Given the description of an element on the screen output the (x, y) to click on. 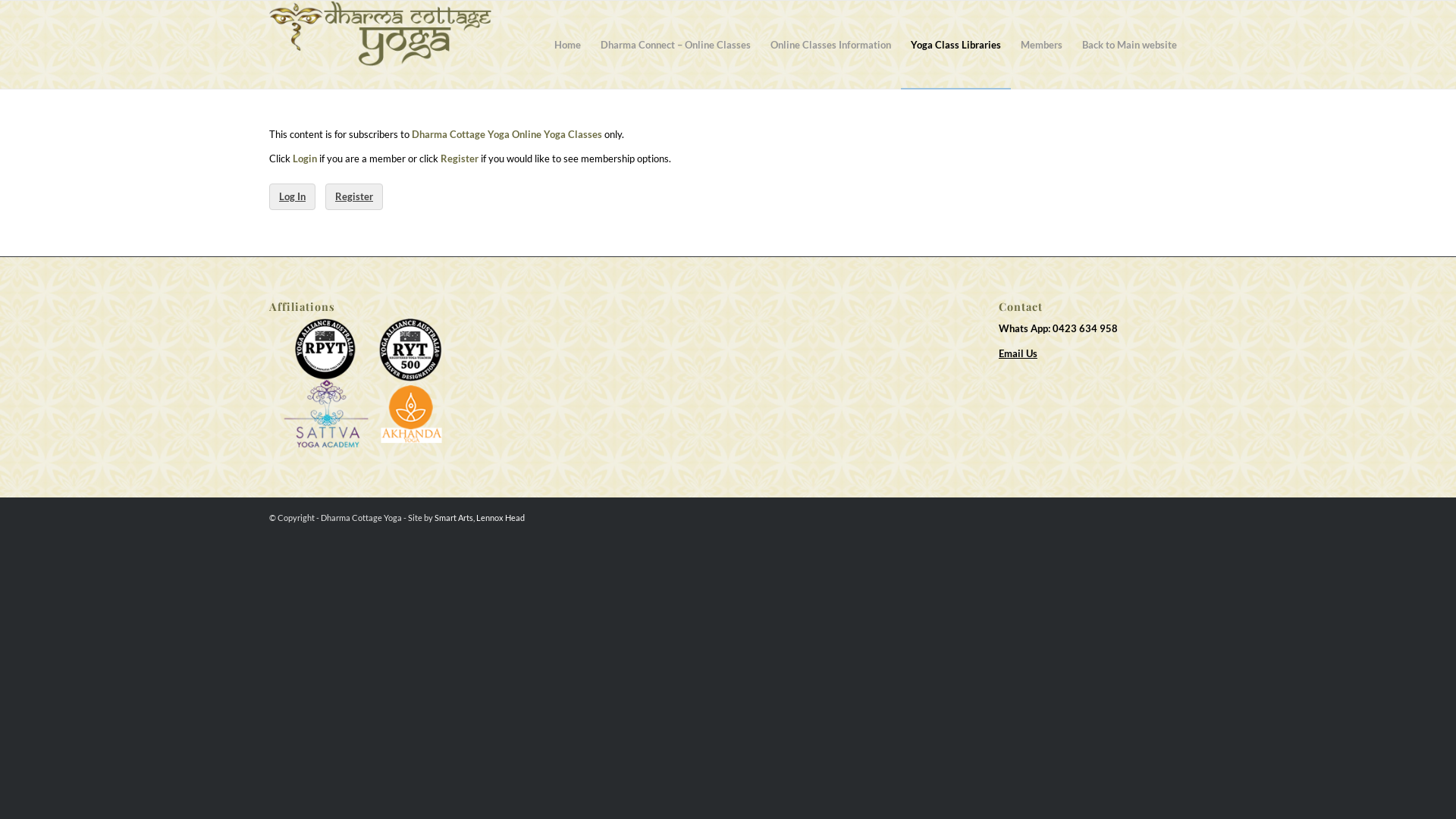
Back to Main website Element type: text (1129, 44)
Email Us Element type: text (1017, 353)
Yoga Class Libraries Element type: text (955, 44)
Register Element type: text (353, 196)
Online Classes Information Element type: text (830, 44)
Home Element type: text (567, 44)
Log In Element type: text (292, 196)
Smart Arts, Lennox Head Element type: text (479, 517)
Members Element type: text (1041, 44)
